Given the description of an element on the screen output the (x, y) to click on. 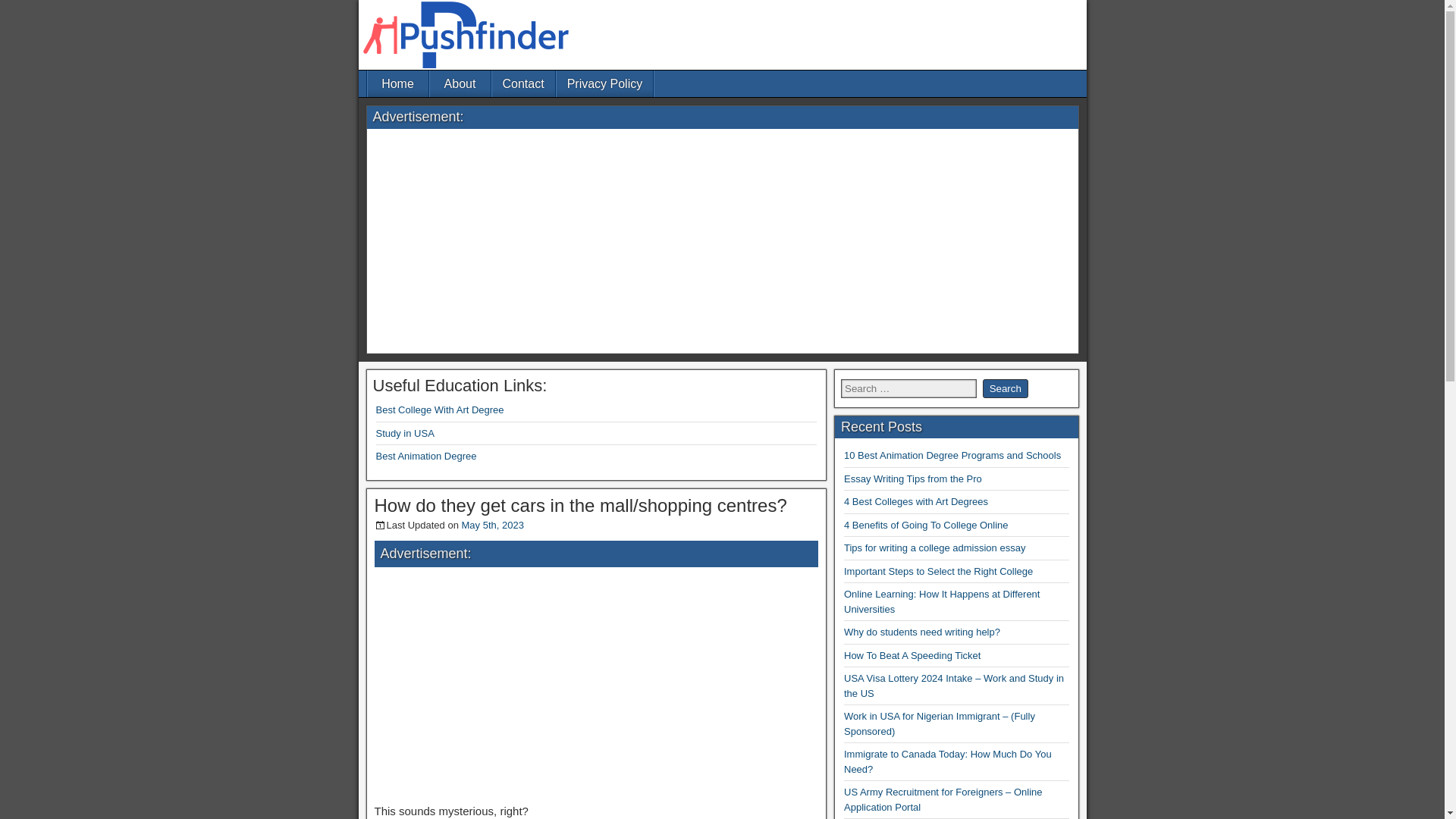
Search (1004, 388)
Online Learning: How It Happens at Different Universities (941, 601)
Tips for writing a college admission essay (934, 547)
4 Best Colleges with Art Degrees (916, 501)
Immigrate to Canada Today: How Much Do You Need? (947, 761)
4 Benefits of Going To College Online (926, 524)
Search (1004, 388)
Best Animation Degree (426, 455)
Privacy Policy (604, 83)
Contact (523, 83)
